Given the description of an element on the screen output the (x, y) to click on. 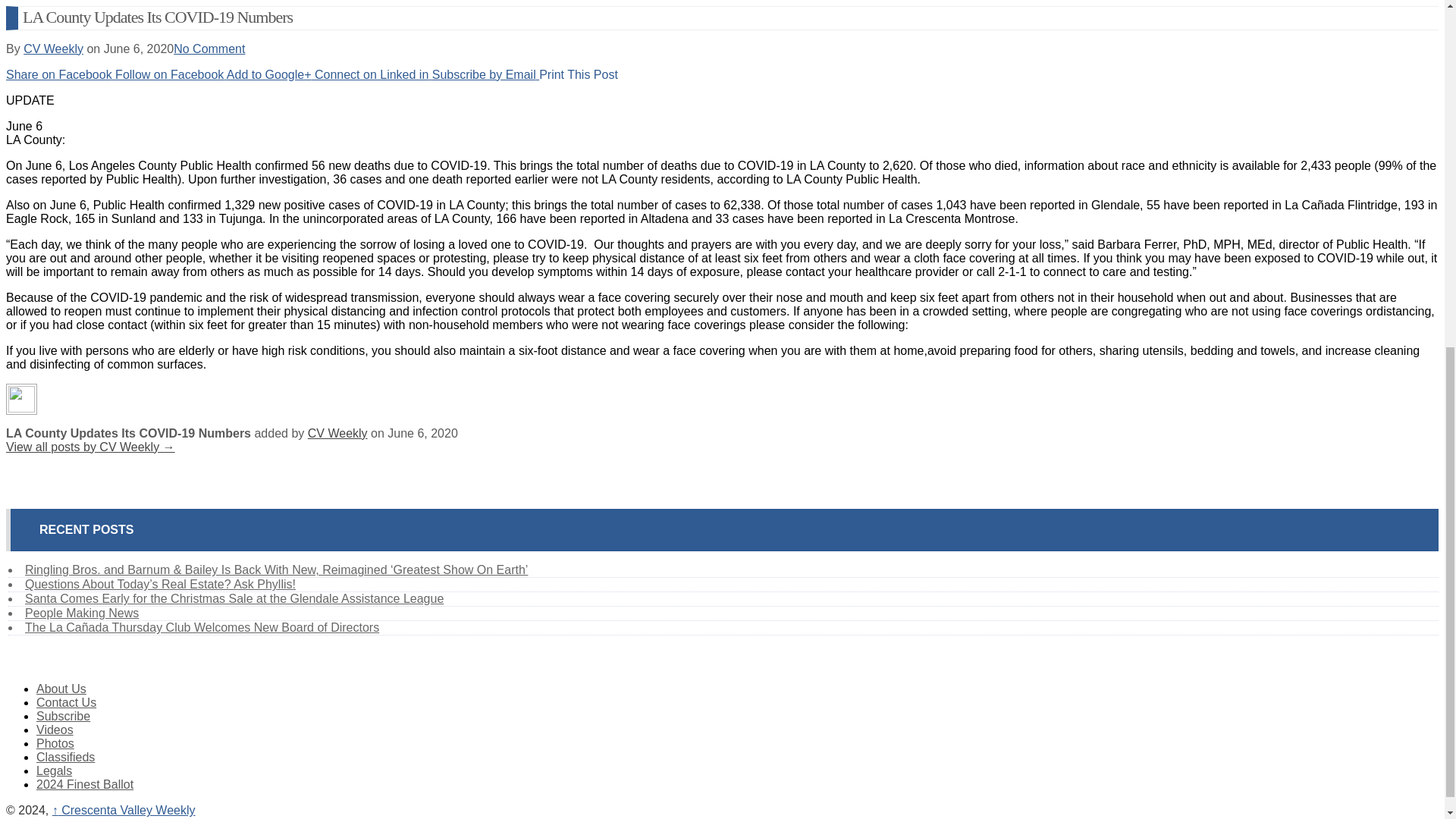
Share on Facebook (60, 74)
Send by Email (485, 74)
Share on Twitter (171, 74)
Connect on Linked in (373, 74)
CV Weekly (52, 48)
Crescenta Valley Weekly (123, 809)
Share on LinkedIn (373, 74)
No Comment (208, 48)
Follow on Facebook (171, 74)
Share on Facebook (60, 74)
Print This Post (577, 74)
